Given the description of an element on the screen output the (x, y) to click on. 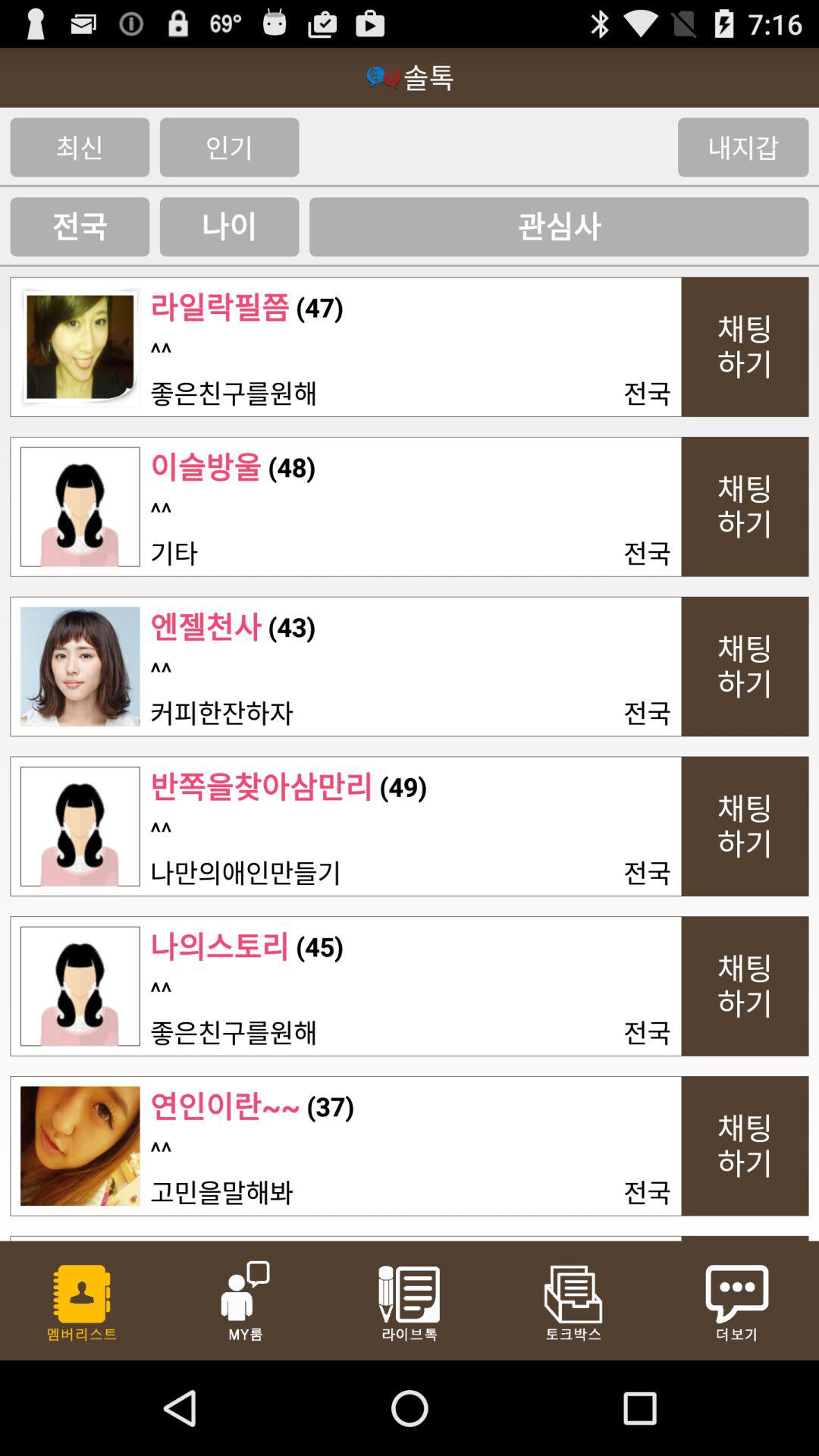
tap item next to  (48) (205, 467)
